Given the description of an element on the screen output the (x, y) to click on. 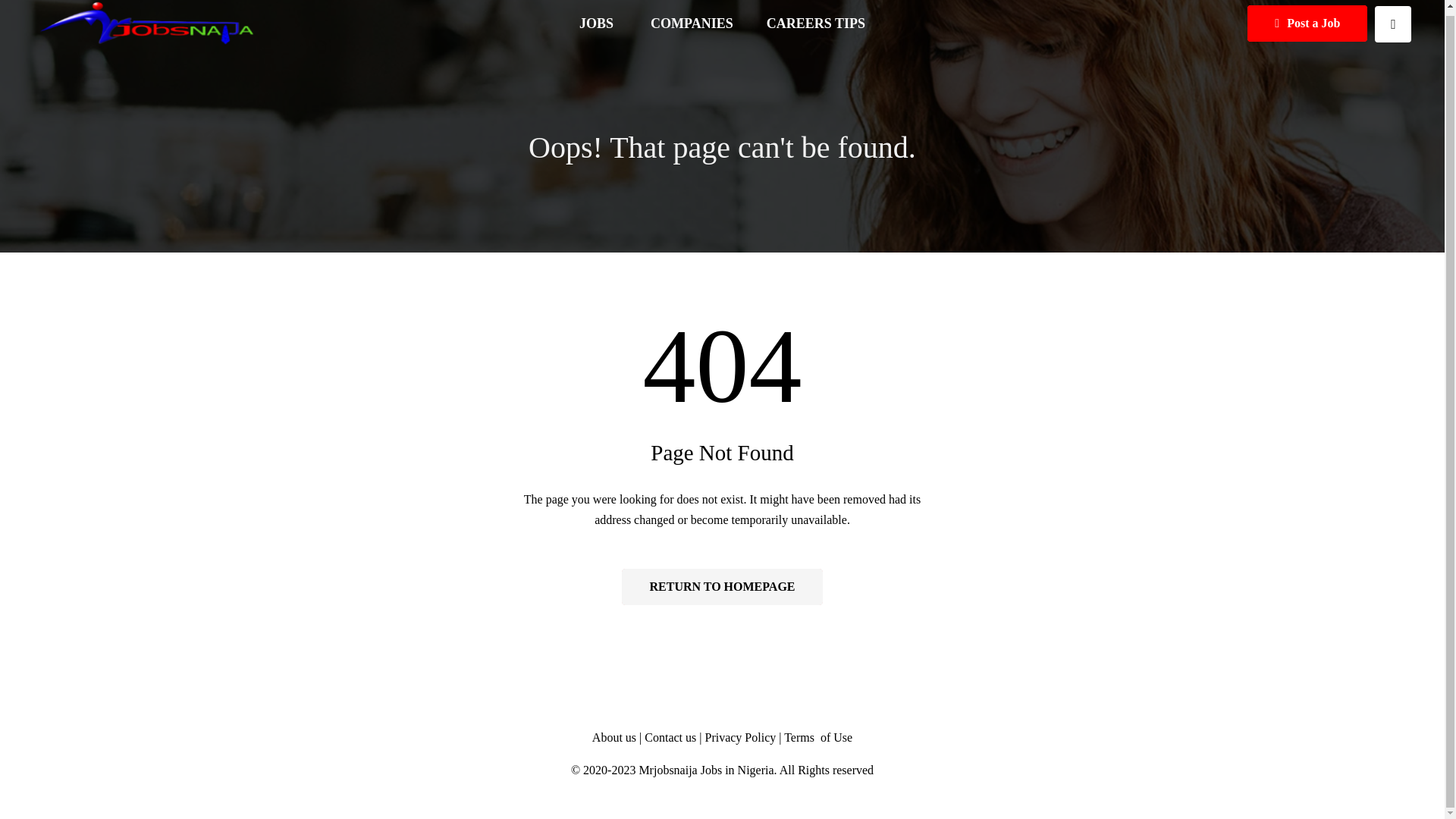
RETURN TO HOMEPAGE (721, 586)
JOBS (597, 24)
CAREERS TIPS (815, 24)
COMPANIES (691, 24)
Post a Job (1307, 22)
Terms  of Use (817, 737)
Contact us (671, 737)
Home Page (721, 586)
About us (614, 737)
Privacy Policy (740, 737)
